Given the description of an element on the screen output the (x, y) to click on. 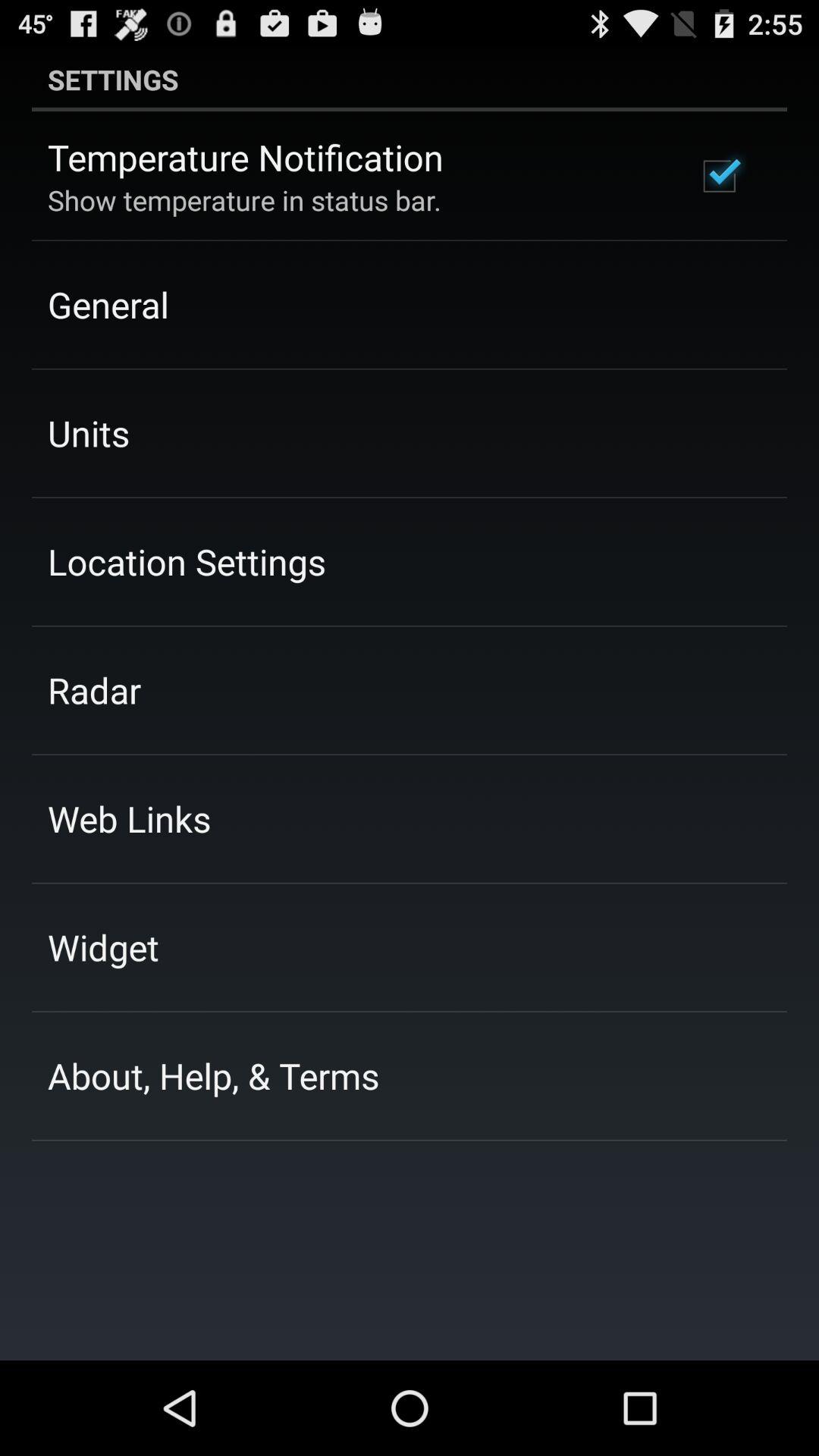
swipe to about, help, & terms item (213, 1075)
